Given the description of an element on the screen output the (x, y) to click on. 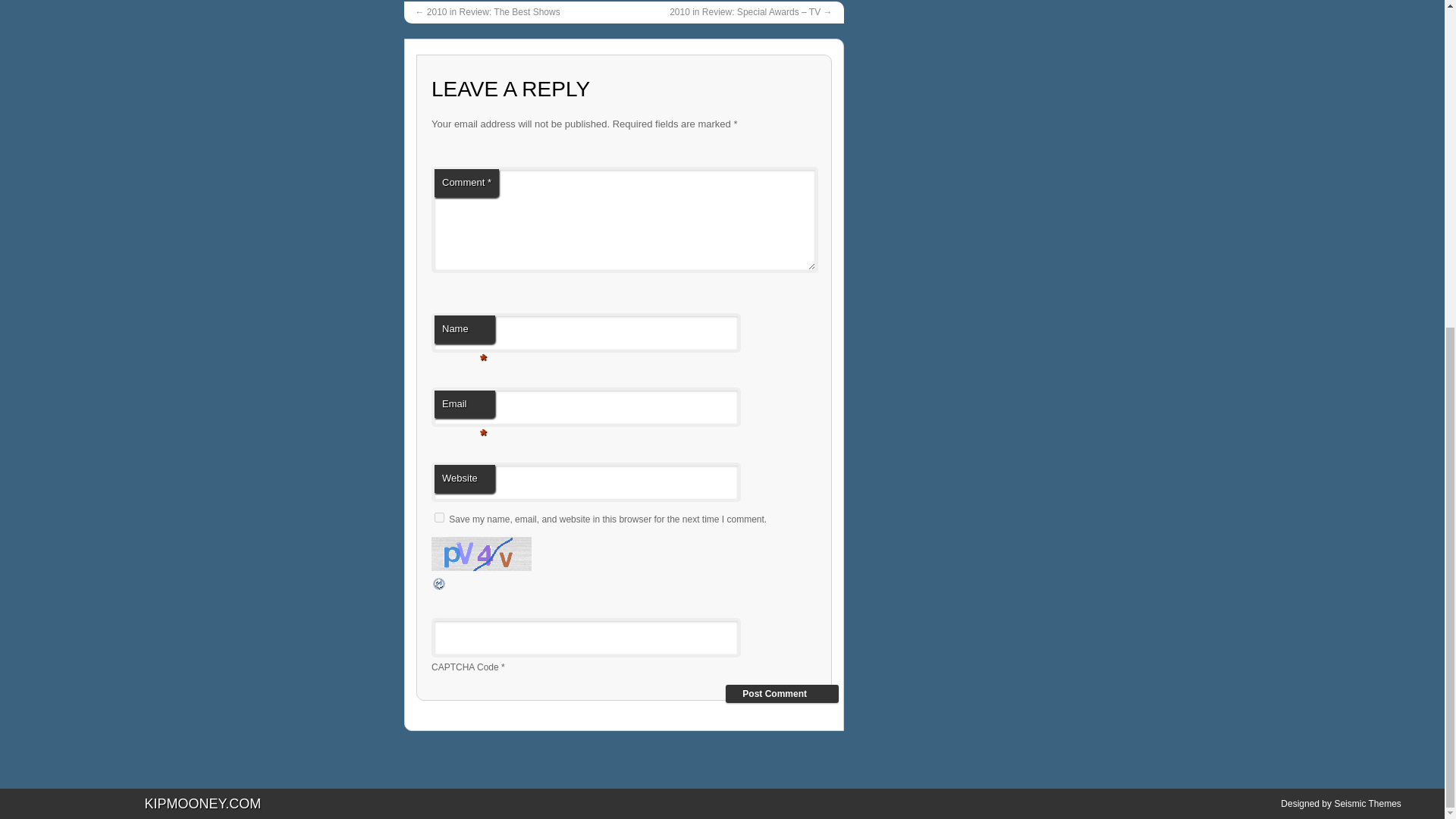
KipMooney.com (202, 803)
Post Comment (781, 693)
yes (438, 517)
Seismic Themes (1366, 803)
KIPMOONEY.COM (202, 803)
CAPTCHA Image (480, 553)
Refresh Image (439, 588)
Post Comment (781, 693)
Seismic Themes (1366, 803)
